Given the description of an element on the screen output the (x, y) to click on. 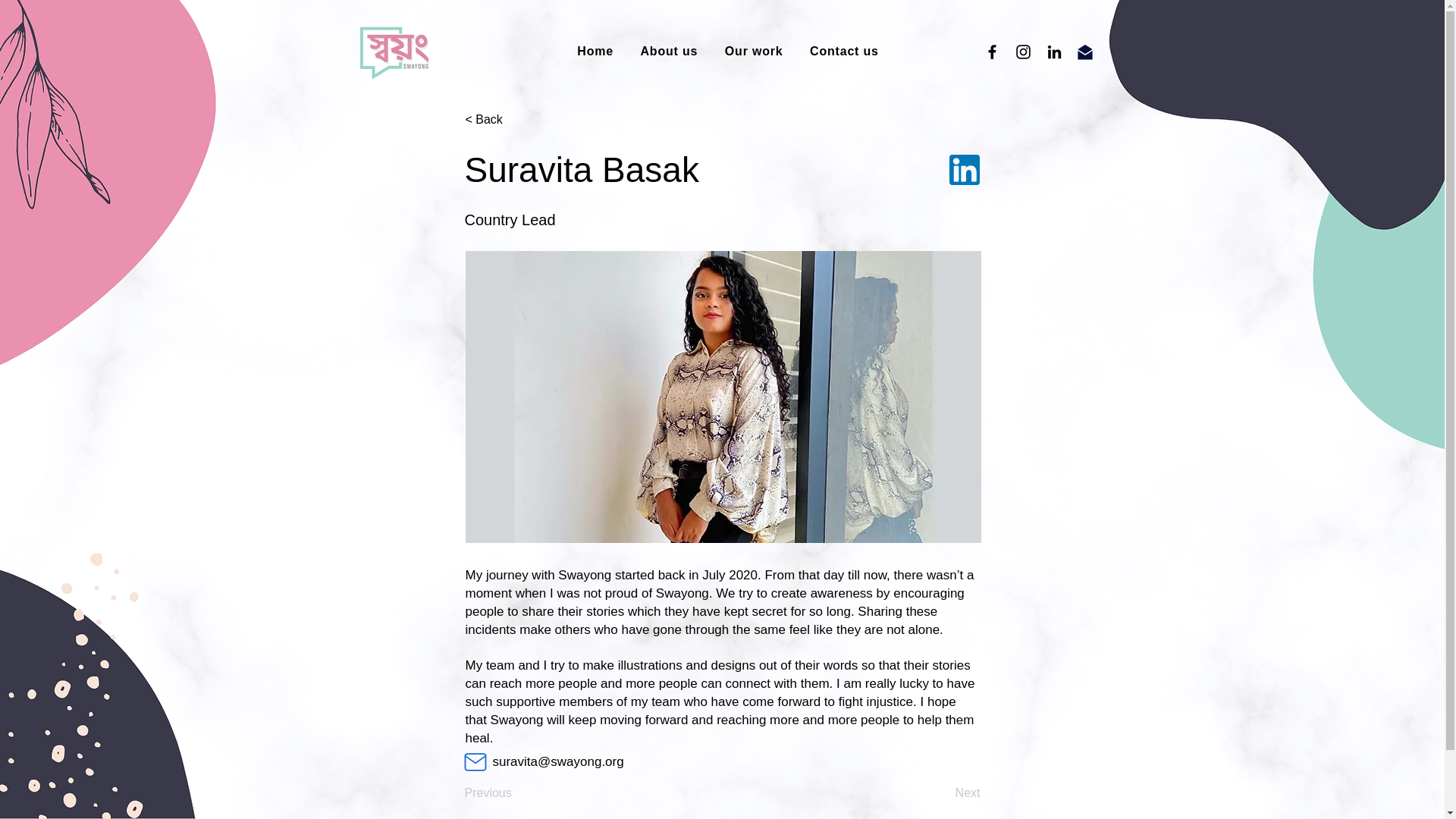
174857.png (964, 169)
Next (941, 793)
Previous (514, 793)
Home (595, 51)
About us (668, 51)
Contact us (843, 51)
